Given the description of an element on the screen output the (x, y) to click on. 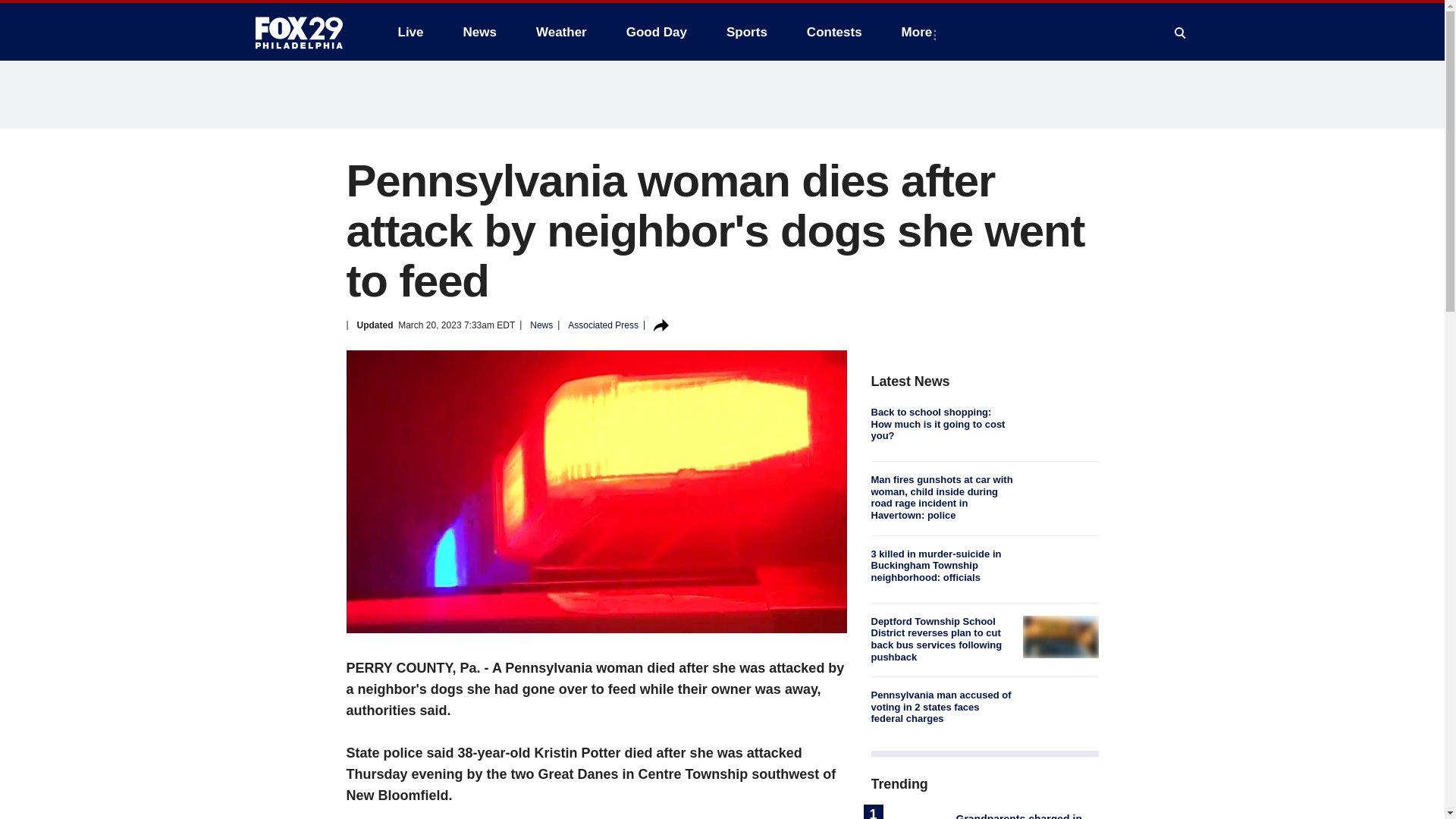
More (919, 32)
News (479, 32)
Live (410, 32)
Sports (746, 32)
Weather (561, 32)
Good Day (656, 32)
Contests (834, 32)
